Given the description of an element on the screen output the (x, y) to click on. 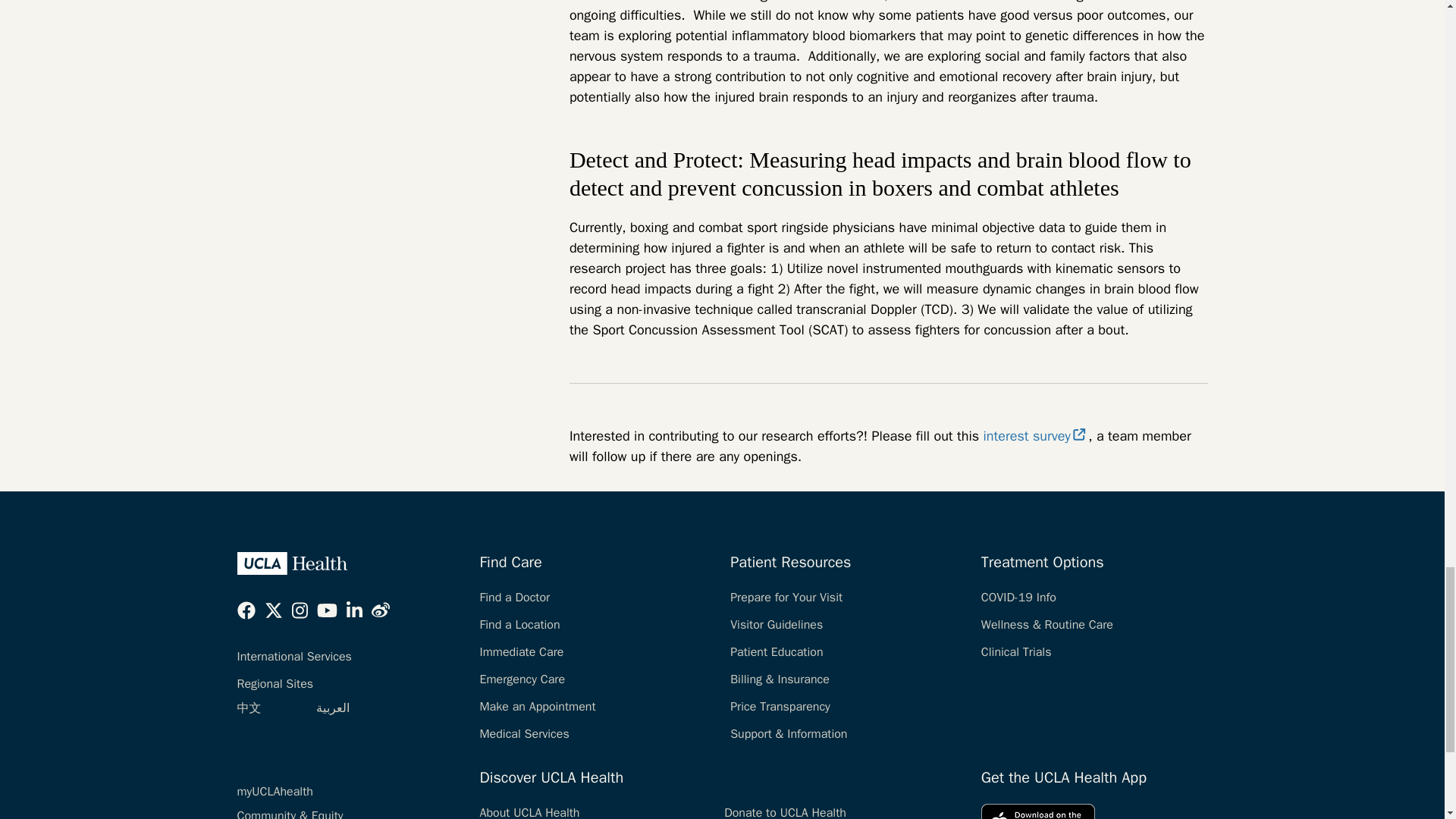
myUCLAhealth Login. (274, 791)
Link is external (1079, 434)
